Given the description of an element on the screen output the (x, y) to click on. 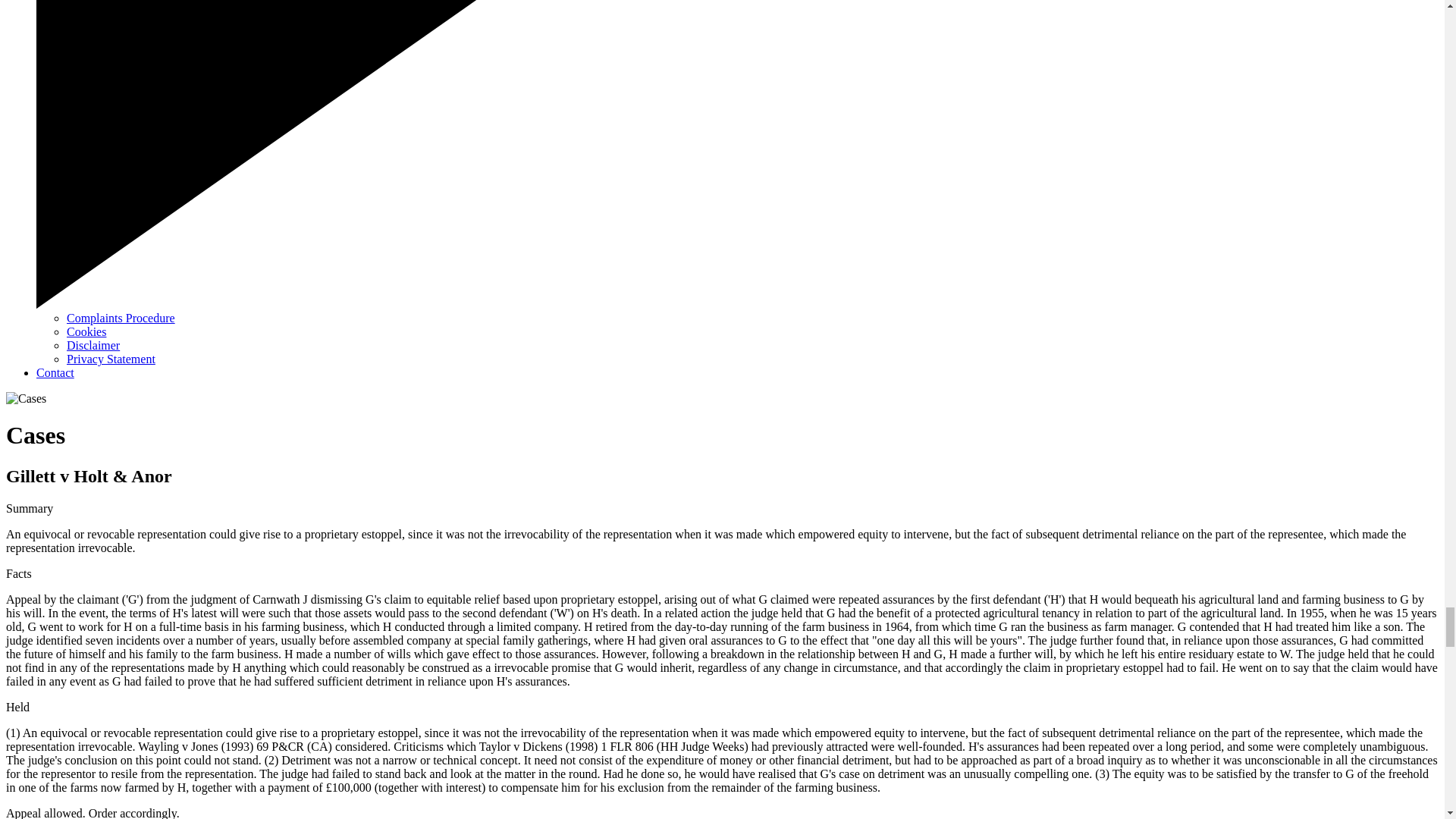
Contact (55, 372)
Disclaimer (92, 345)
Complaints Procedure (120, 318)
Cookies (86, 331)
Privacy Statement (110, 358)
